Given the description of an element on the screen output the (x, y) to click on. 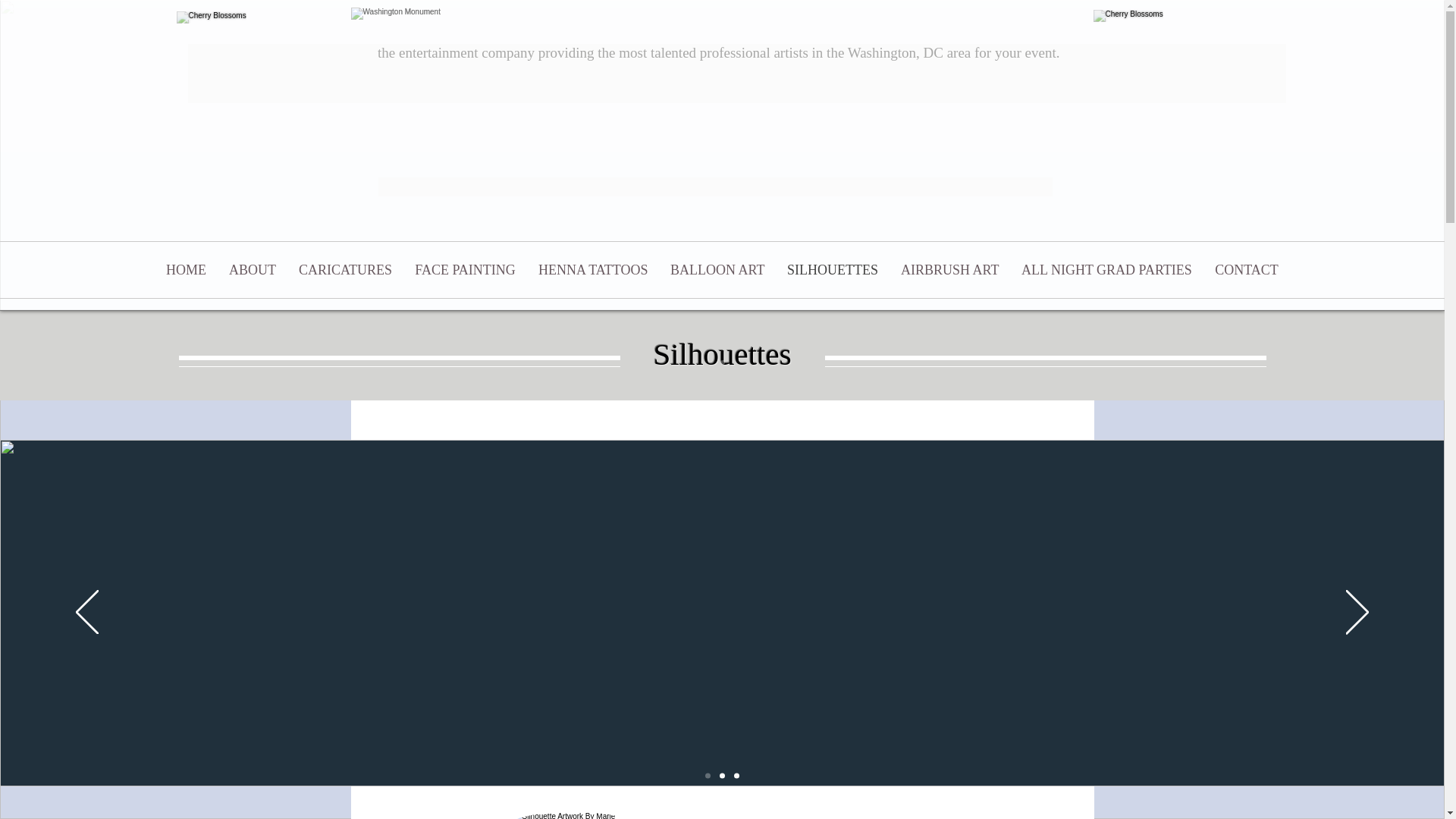
AIRBRUSH ART (949, 269)
HENNA TATTOOS (593, 269)
SILHOUETTES (832, 269)
HOME (185, 269)
ABOUT (251, 269)
CONTACT (1247, 269)
CARICATURES (344, 269)
ALL NIGHT GRAD PARTIES (1107, 269)
FACE PAINTING (465, 269)
BALLOON ART (717, 269)
